Given the description of an element on the screen output the (x, y) to click on. 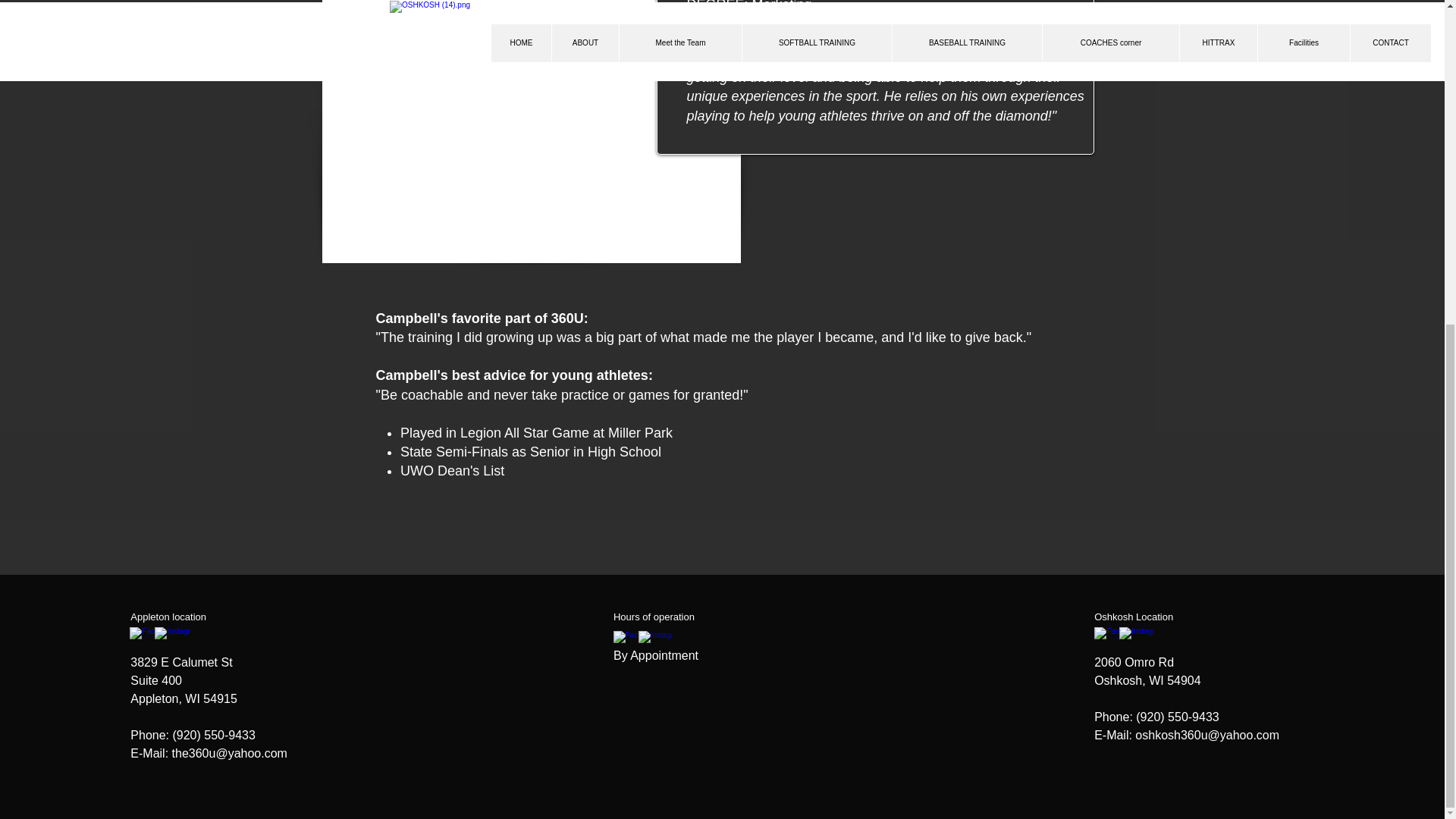
Campbell.png (530, 131)
